Given the description of an element on the screen output the (x, y) to click on. 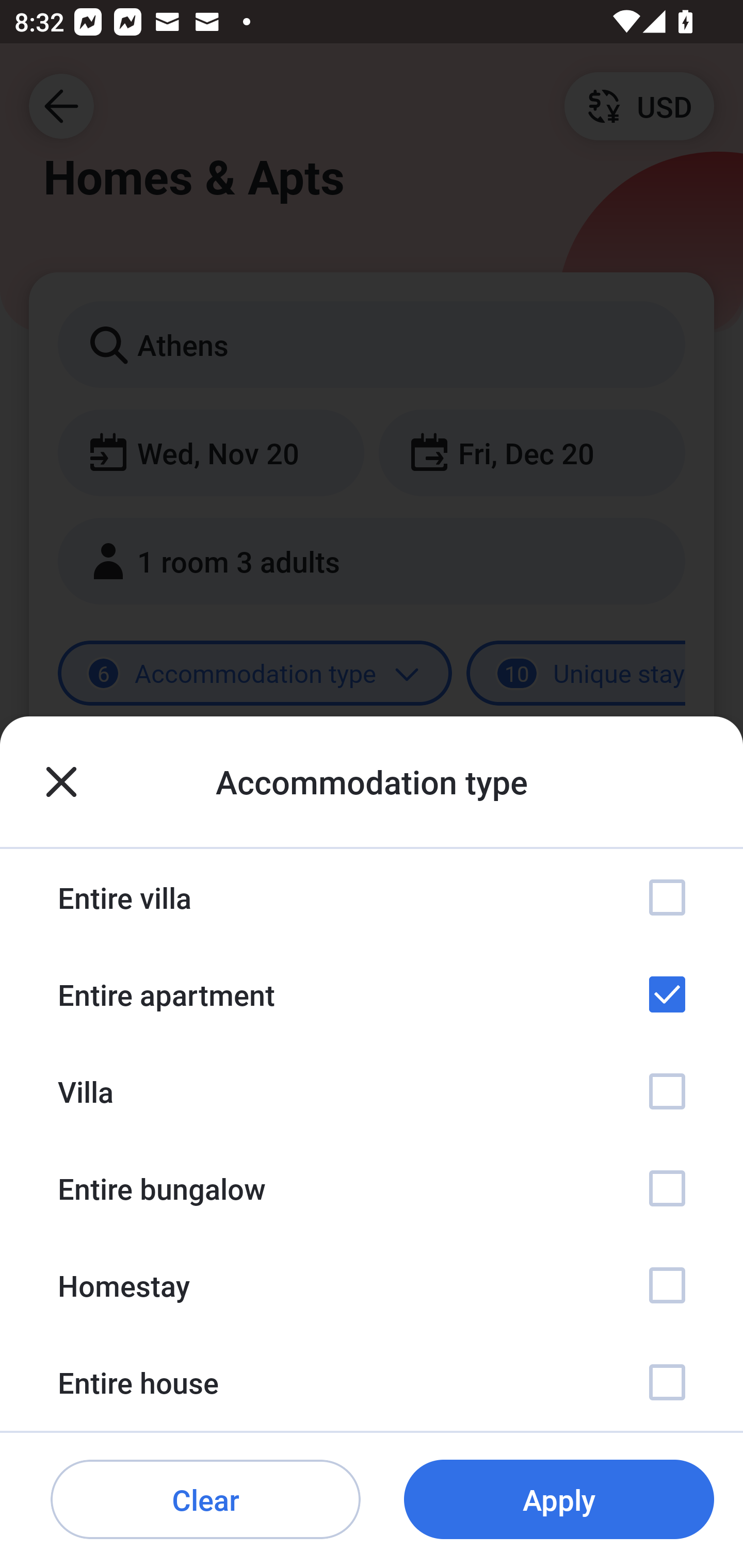
Entire villa (371, 897)
Entire apartment (371, 994)
Villa (371, 1091)
Entire bungalow (371, 1188)
Homestay (371, 1284)
Entire house (371, 1382)
Clear (205, 1499)
Apply (559, 1499)
